Given the description of an element on the screen output the (x, y) to click on. 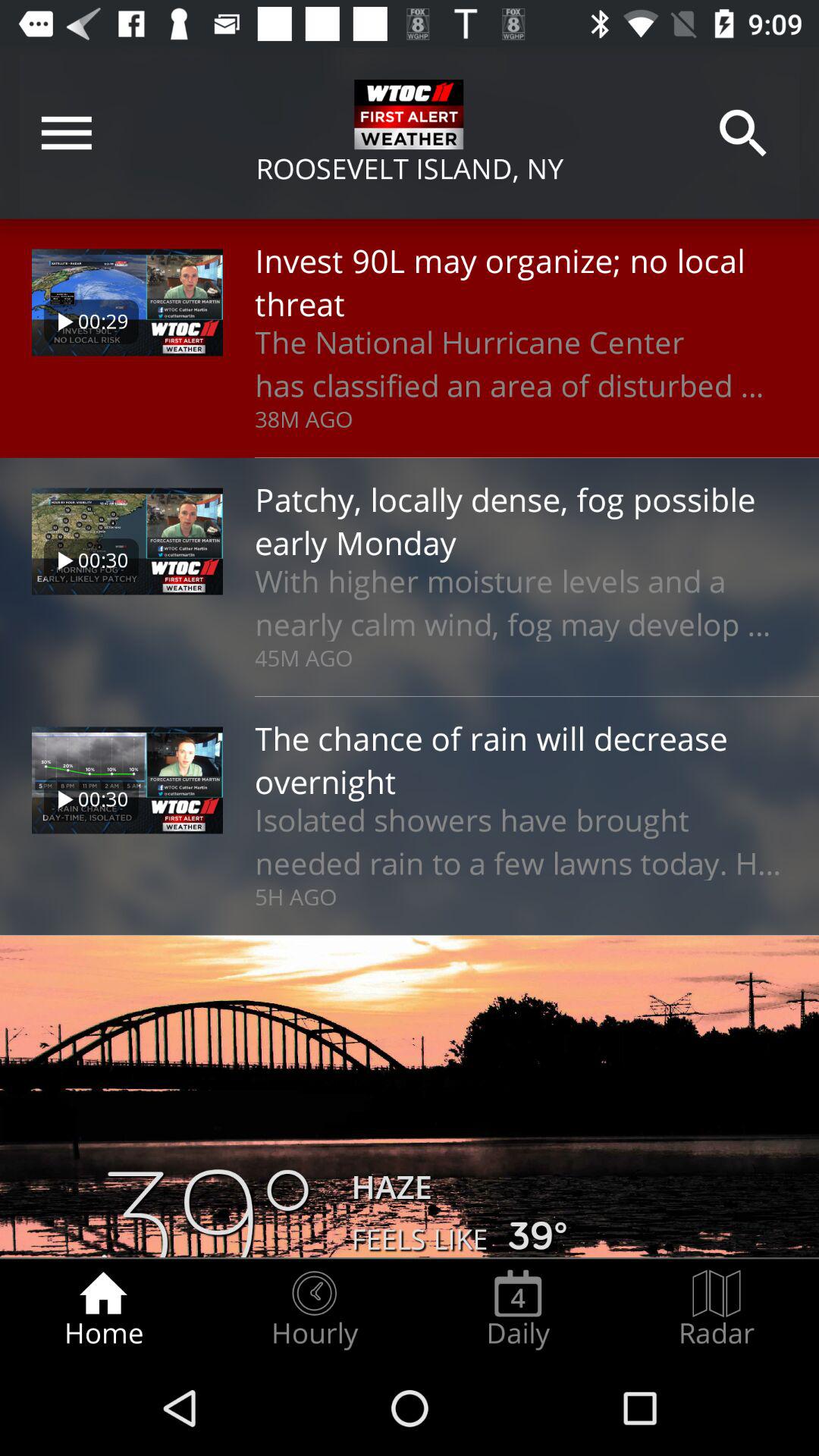
scroll to hourly radio button (314, 1309)
